Given the description of an element on the screen output the (x, y) to click on. 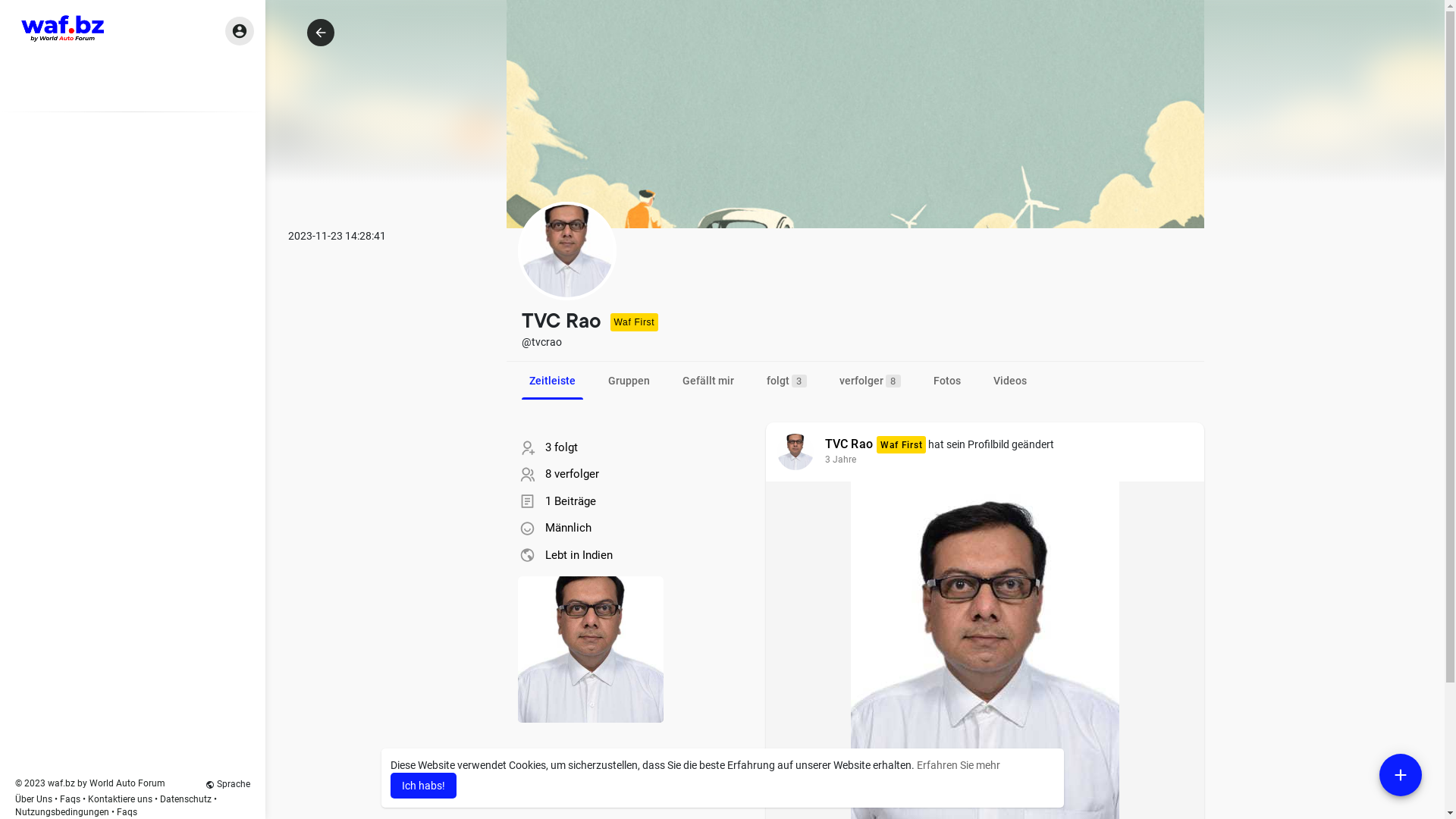
Erstellen Neu Element type: hover (1400, 774)
Sprache Element type: text (227, 783)
Fotos Element type: text (946, 380)
Ich habs! Element type: text (422, 785)
Zeitleiste Element type: text (552, 380)
Videos Element type: text (1009, 380)
folgt 3 Element type: text (785, 380)
3 Jahre Element type: text (840, 459)
Nutzungsbedingungen Element type: text (62, 811)
TVC Rao Element type: text (848, 444)
verfolger 8 Element type: text (869, 380)
8 verfolger Element type: text (571, 473)
Datenschutz Element type: text (185, 798)
Waf First Element type: text (900, 444)
Kontaktiere uns Element type: text (119, 798)
3 folgt Element type: text (560, 447)
Gruppen Element type: text (629, 380)
Faqs Element type: text (126, 811)
Faqs Element type: text (70, 798)
Waf First Element type: text (633, 322)
Erfahren Sie mehr Element type: text (957, 765)
